Given the description of an element on the screen output the (x, y) to click on. 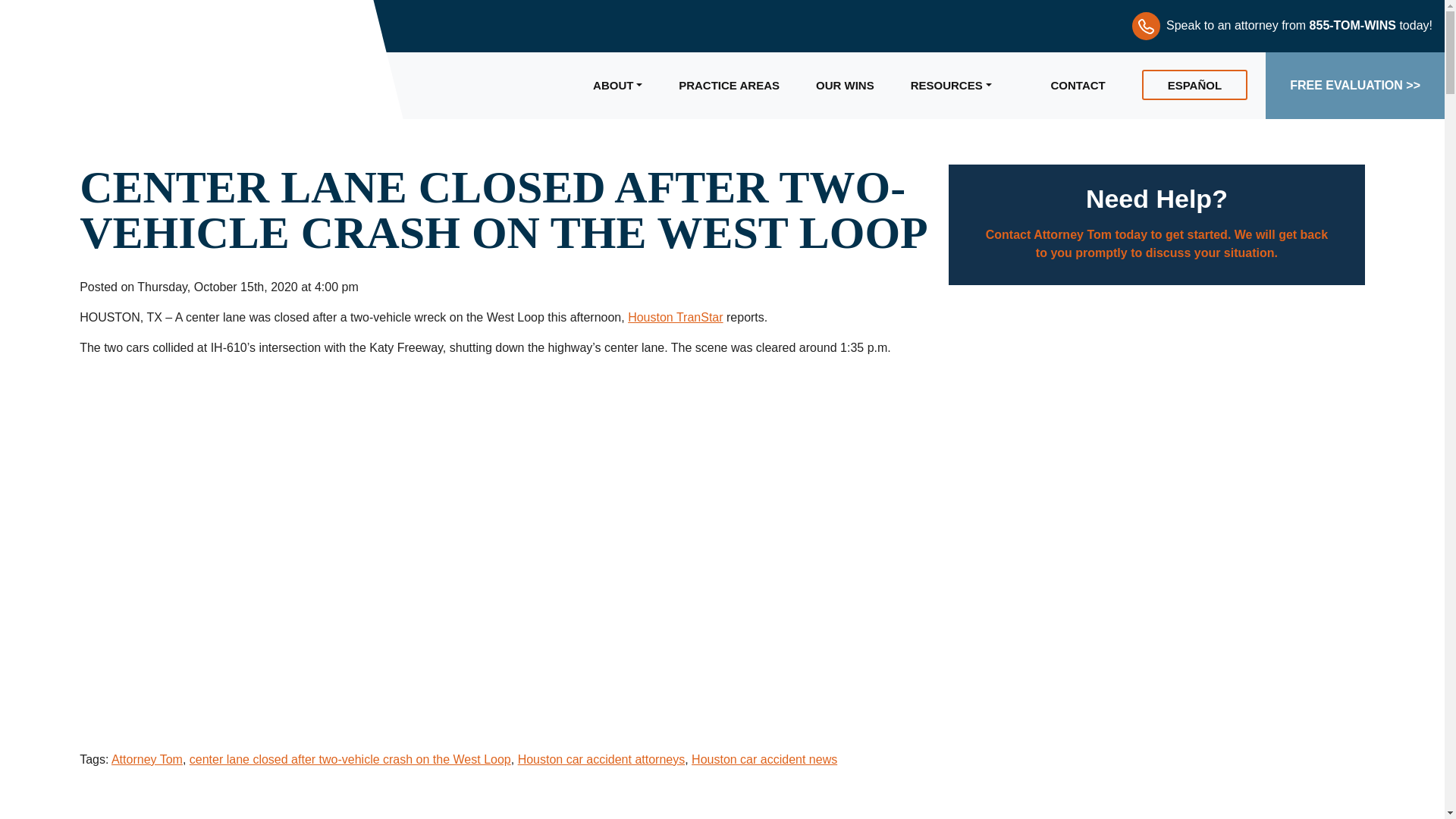
Houston car accident attorneys (601, 758)
ABOUT (617, 84)
OUR WINS (845, 84)
Attorney Tom (147, 758)
Houston TranStar (674, 317)
RESOURCES (962, 84)
CONTACT (1078, 84)
Houston car accident news (764, 758)
center lane closed after two-vehicle crash on the West Loop (350, 758)
PRACTICE AREAS (728, 84)
